Given the description of an element on the screen output the (x, y) to click on. 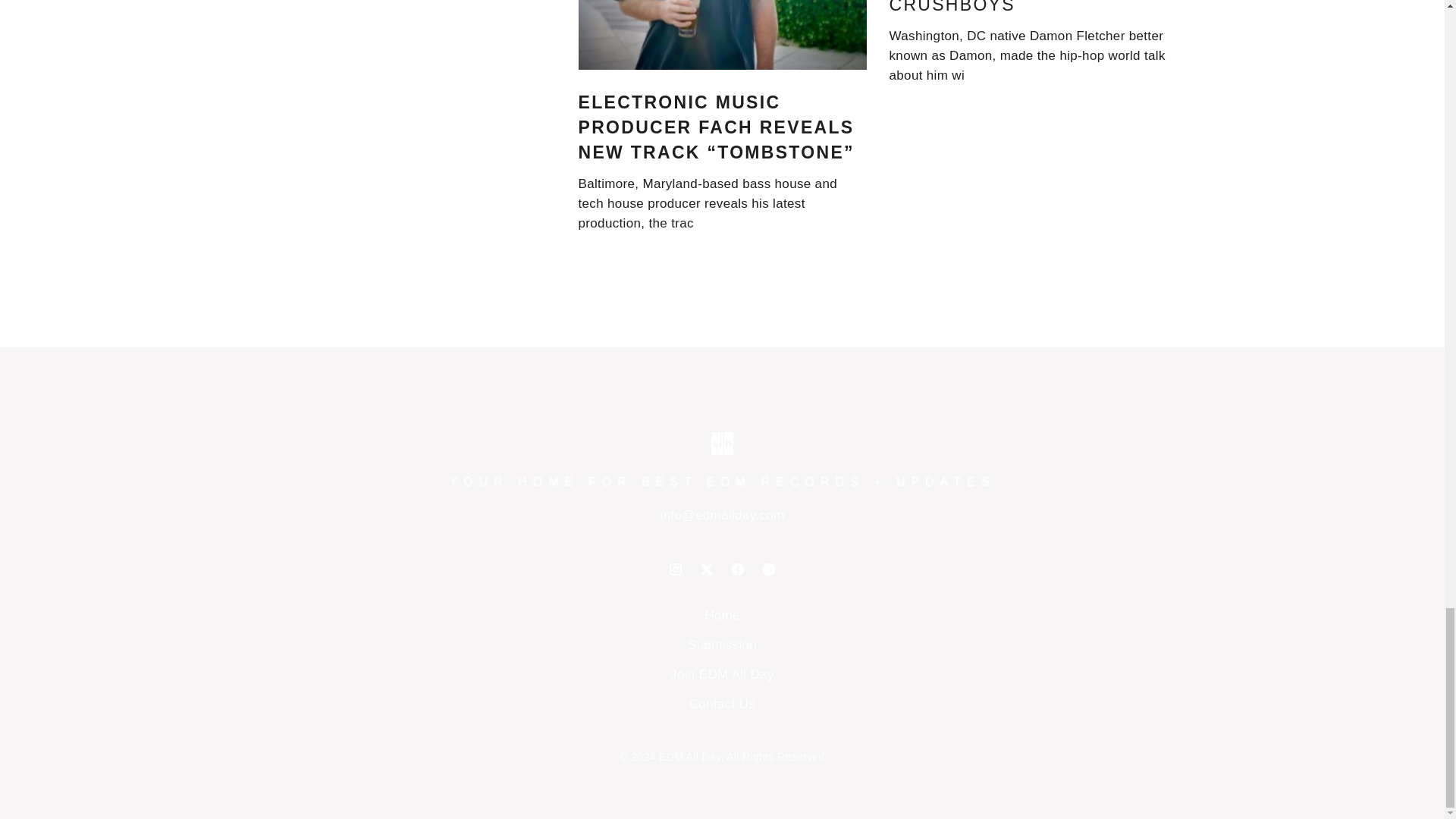
Submission (722, 644)
Home (721, 615)
Contact Us (721, 703)
EDM All Day (689, 756)
Join EDM All Day (721, 674)
